Given the description of an element on the screen output the (x, y) to click on. 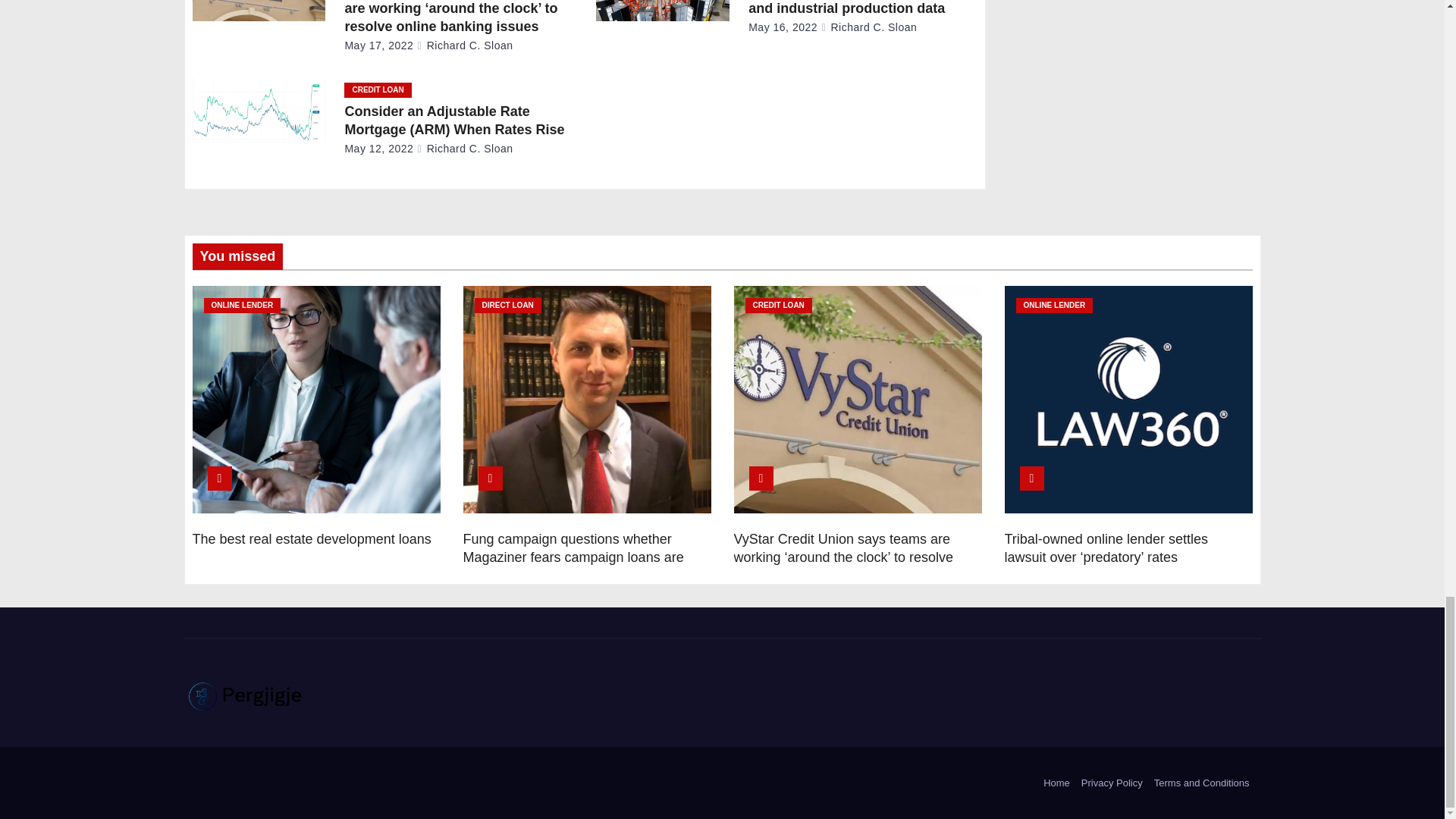
Permalink to: The best real estate development loans (311, 539)
Richard C. Sloan (464, 45)
Home (1056, 782)
May 17, 2022 (378, 45)
